Given the description of an element on the screen output the (x, y) to click on. 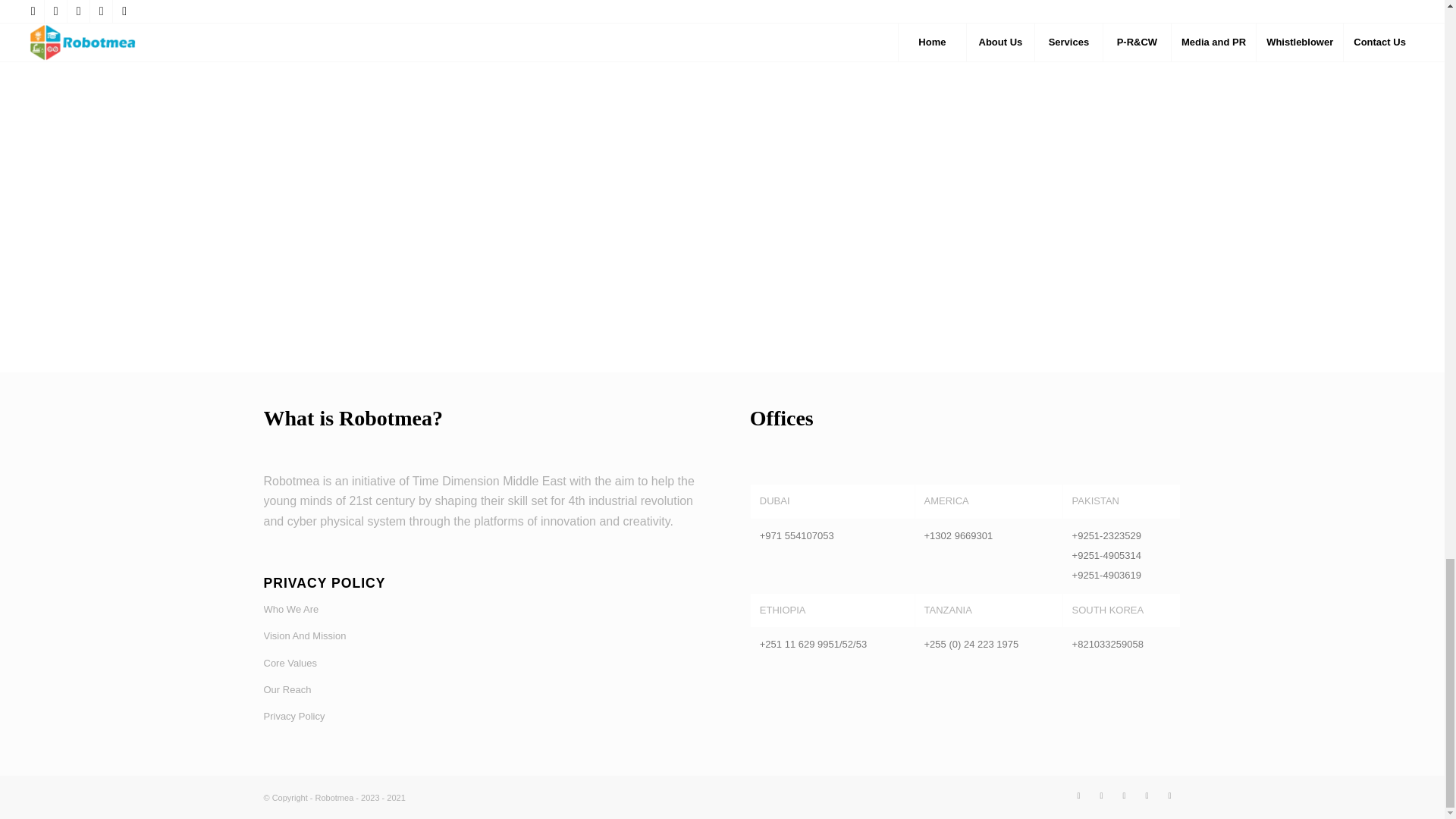
Who We Are (479, 610)
COMPETITION RULE BOOK (722, 7)
Privacy Policy (479, 716)
Core Values (479, 663)
Facebook (1101, 794)
Our Reach (479, 690)
LinkedIn (1124, 794)
Twitter (1078, 794)
Youtube (1146, 794)
Vision And Mission (479, 636)
Instagram (1169, 794)
